Given the description of an element on the screen output the (x, y) to click on. 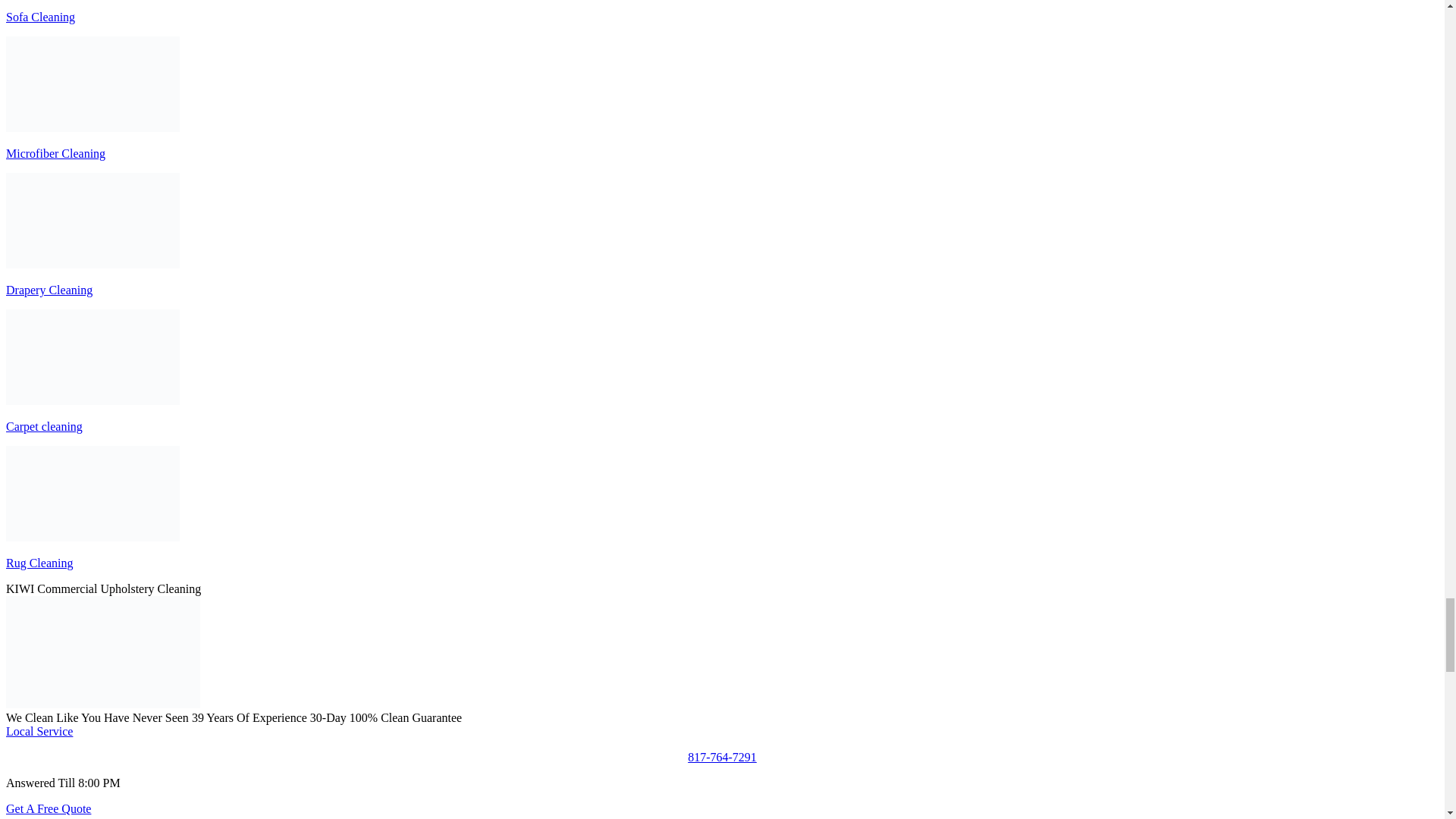
Carpet cleaning (92, 356)
Call For This Week's Special (722, 757)
Get Free Quote On This Week's Special (47, 808)
Carpet Cleaners From Kiwi (102, 652)
Microfiber Cleaning (92, 83)
Sofa Cleaning (40, 16)
Drapery Cleaning (92, 220)
Rug Cleaning (92, 493)
